Given the description of an element on the screen output the (x, y) to click on. 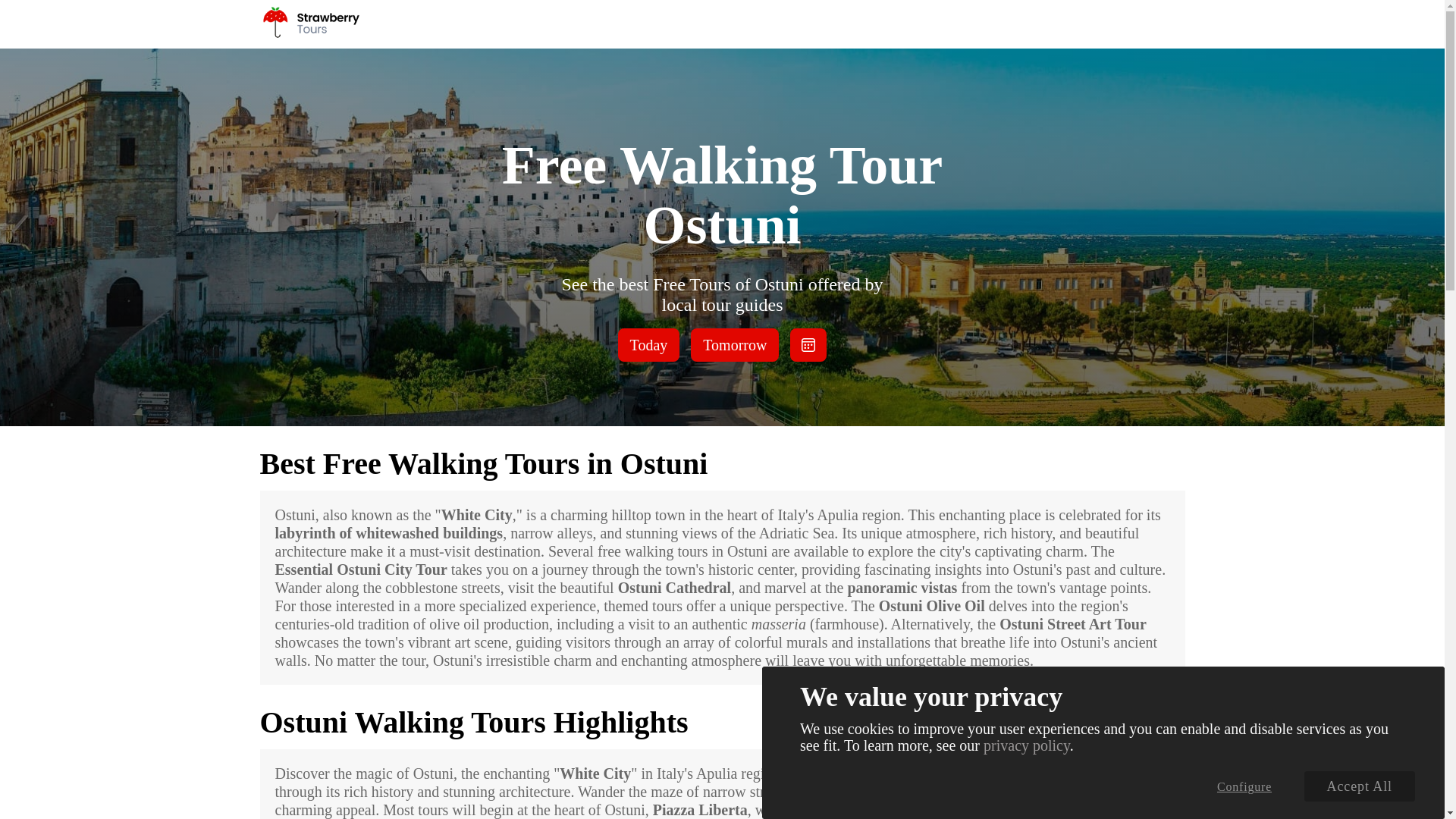
Accept All (1359, 786)
privacy policy (1027, 745)
Today (648, 344)
Tomorrow (734, 344)
Configure (1244, 786)
